Given the description of an element on the screen output the (x, y) to click on. 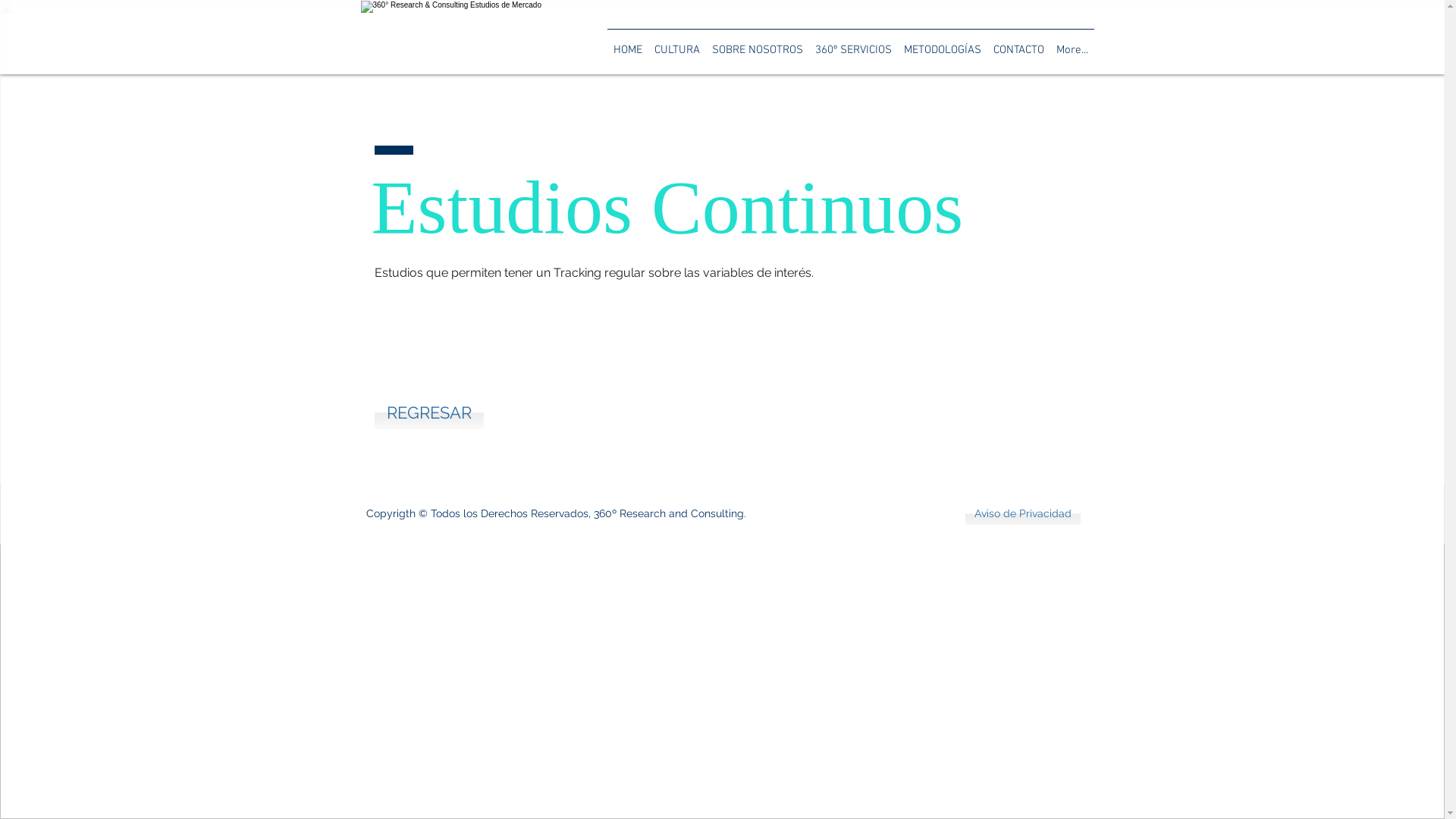
CONTACTO Element type: text (1018, 42)
Logo original sin fondo.png Element type: hover (479, 37)
CULTURA Element type: text (676, 42)
REGRESAR Element type: text (428, 412)
SOBRE NOSOTROS Element type: text (756, 42)
Aviso de Privacidad Element type: text (1021, 513)
HOME Element type: text (626, 42)
